Given the description of an element on the screen output the (x, y) to click on. 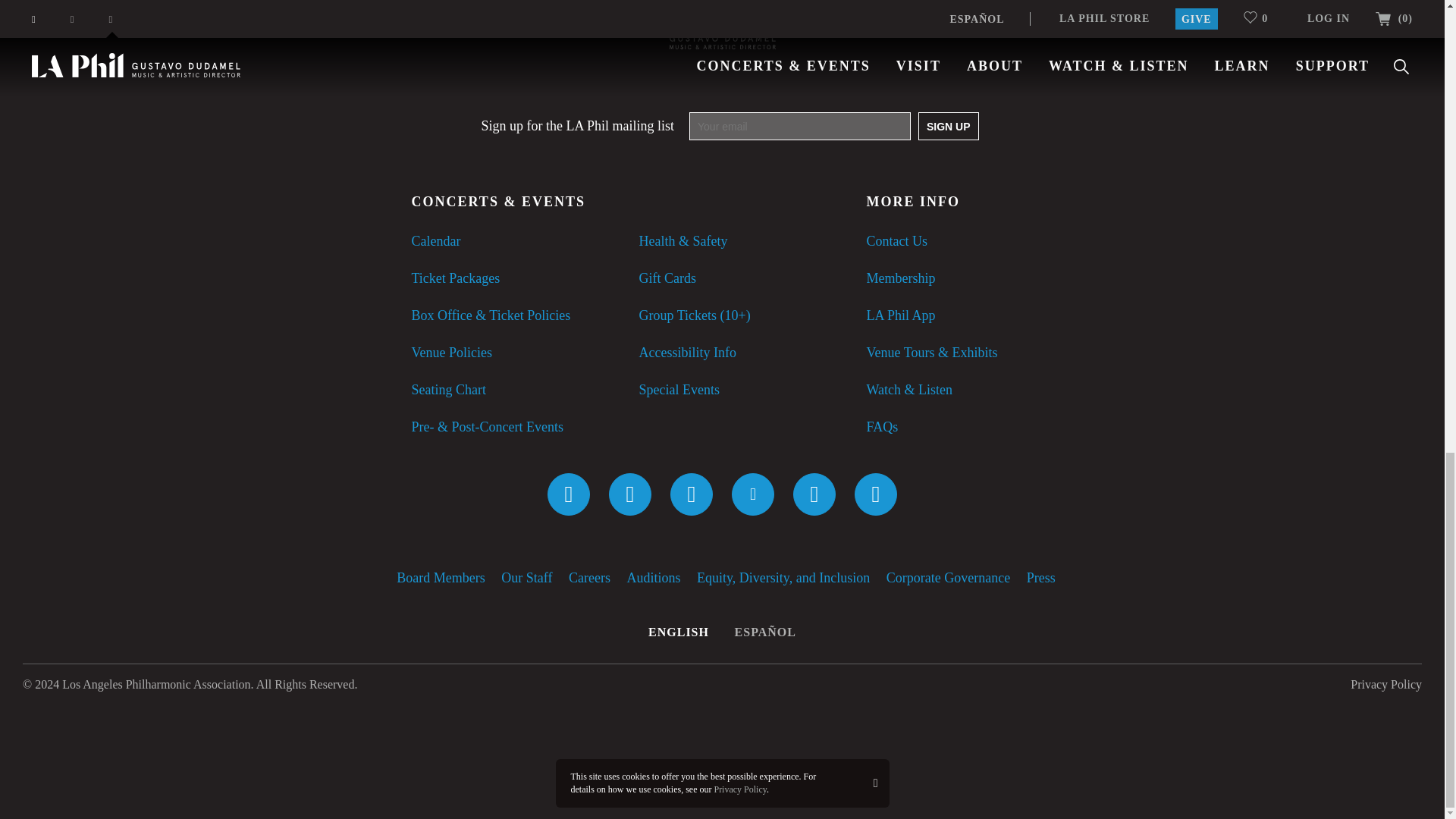
Sign Up (948, 126)
